Given the description of an element on the screen output the (x, y) to click on. 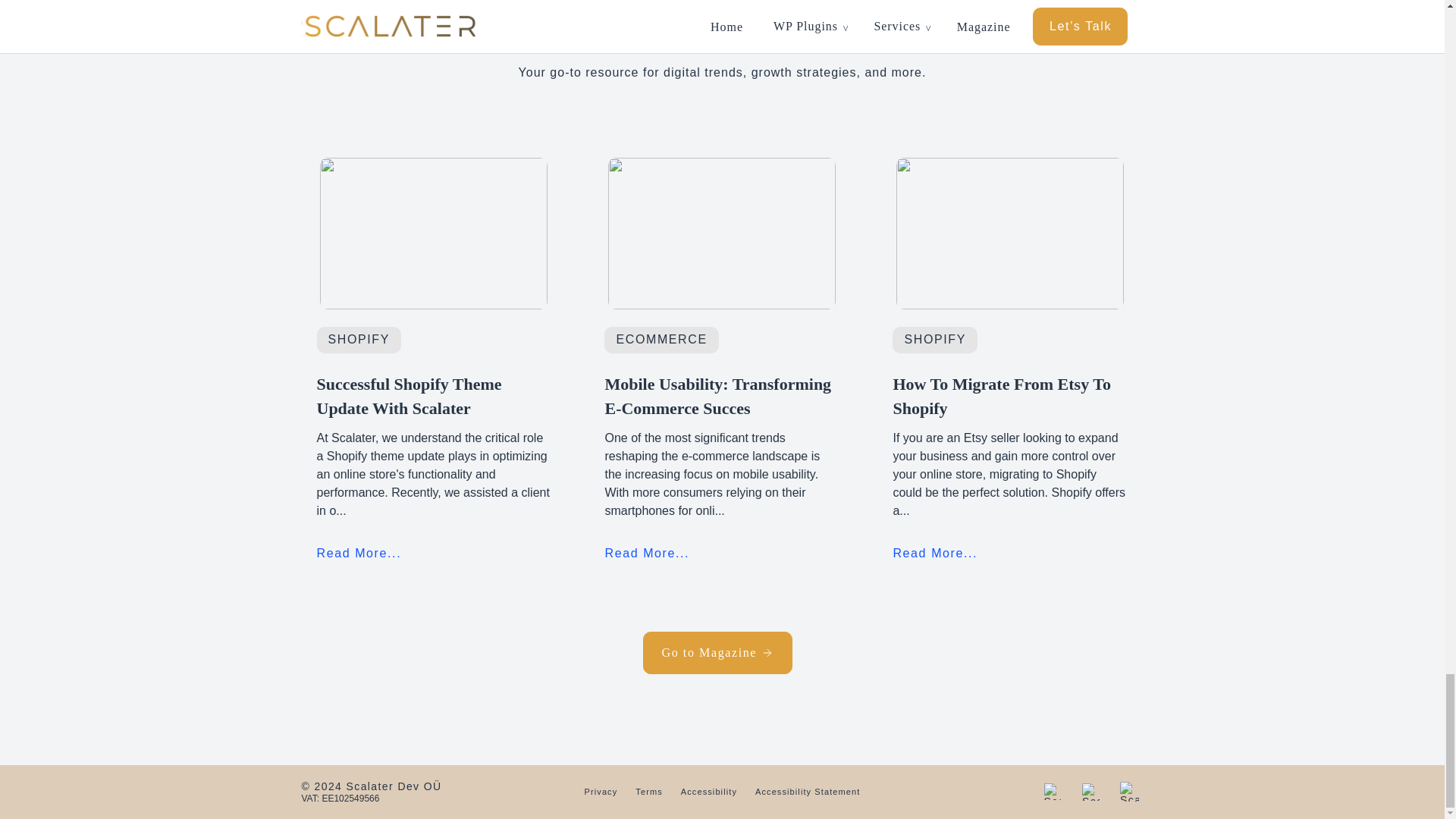
Read More... (359, 552)
ECOMMERCE (660, 338)
SHOPIFY (357, 338)
LinkedIn (1052, 791)
HubSpot (1129, 791)
Successful Shopify Theme Update With Scalater (434, 395)
GitHub (1091, 791)
